Given the description of an element on the screen output the (x, y) to click on. 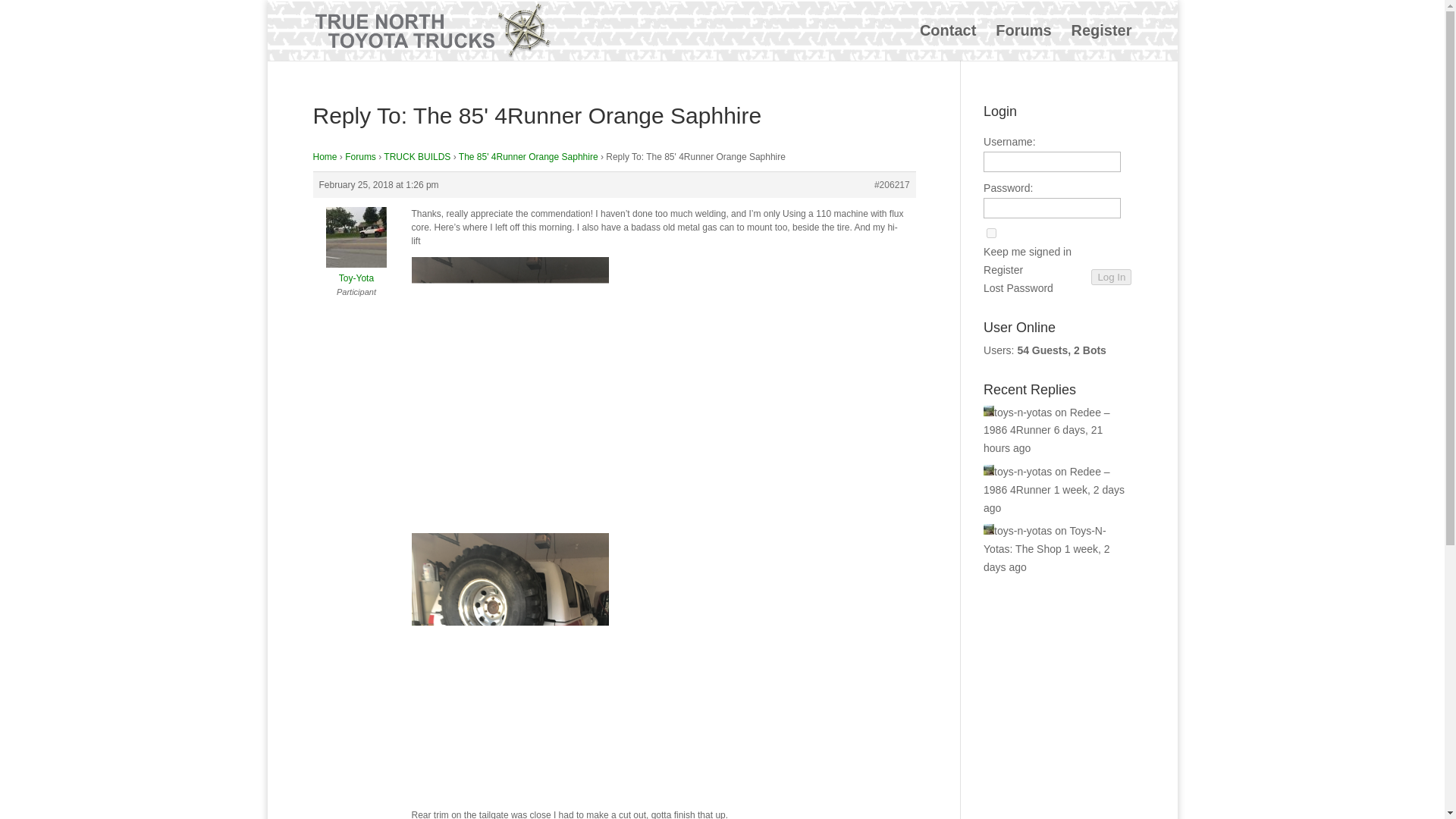
Register (1003, 270)
View Toy-Yota's profile (355, 272)
Forums (360, 156)
Toy-Yota (355, 272)
toys-n-yotas (1017, 530)
View toys-n-yotas's profile (1017, 412)
Register (1003, 270)
Home (324, 156)
Forums (1023, 42)
Log In (1110, 277)
